Given the description of an element on the screen output the (x, y) to click on. 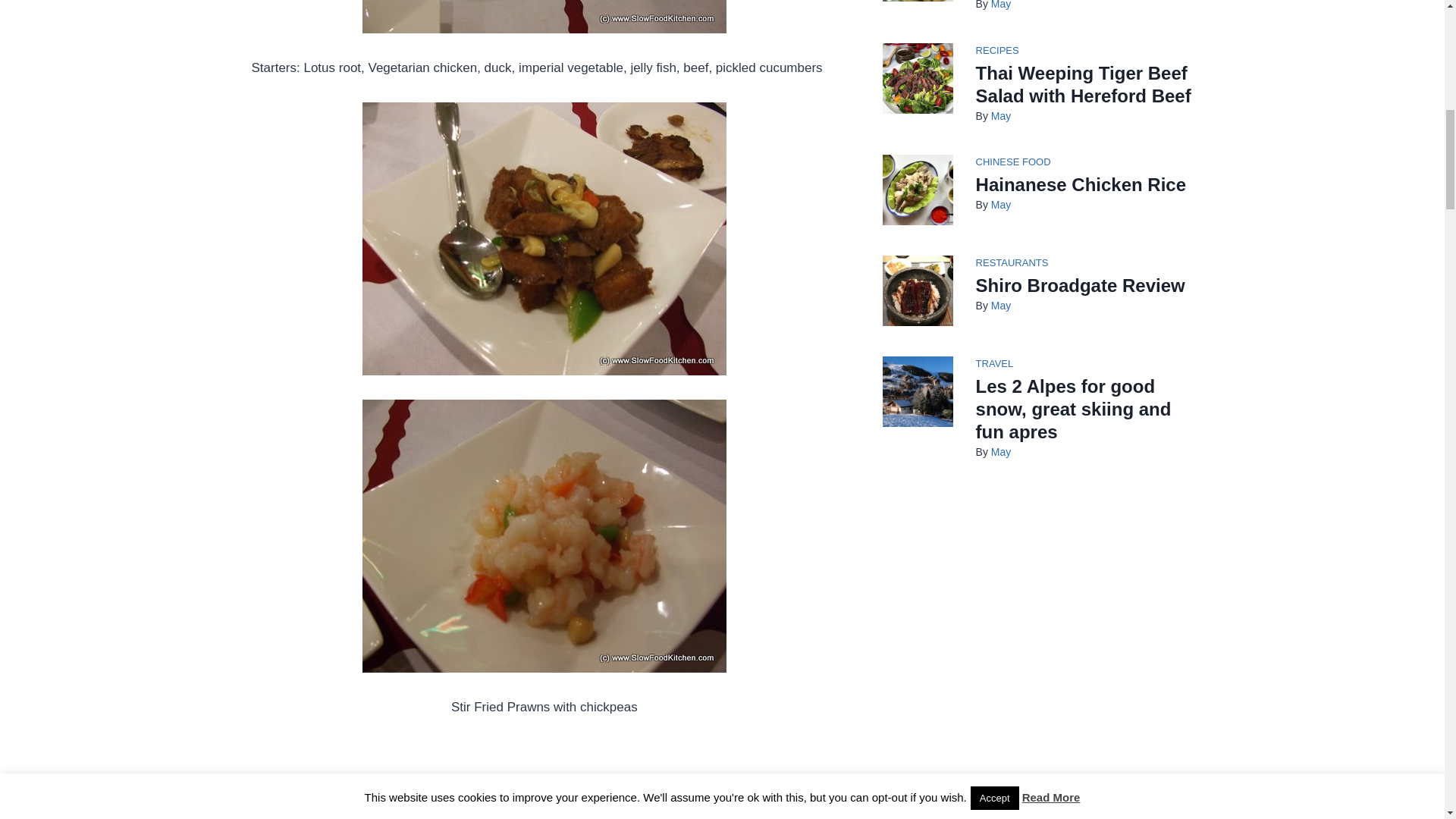
Jai Yun San Francisco  (544, 780)
Jai Yun San Francisco  (544, 535)
Jai Yun San Francisco  (544, 238)
Jai Yun (544, 16)
